Given the description of an element on the screen output the (x, y) to click on. 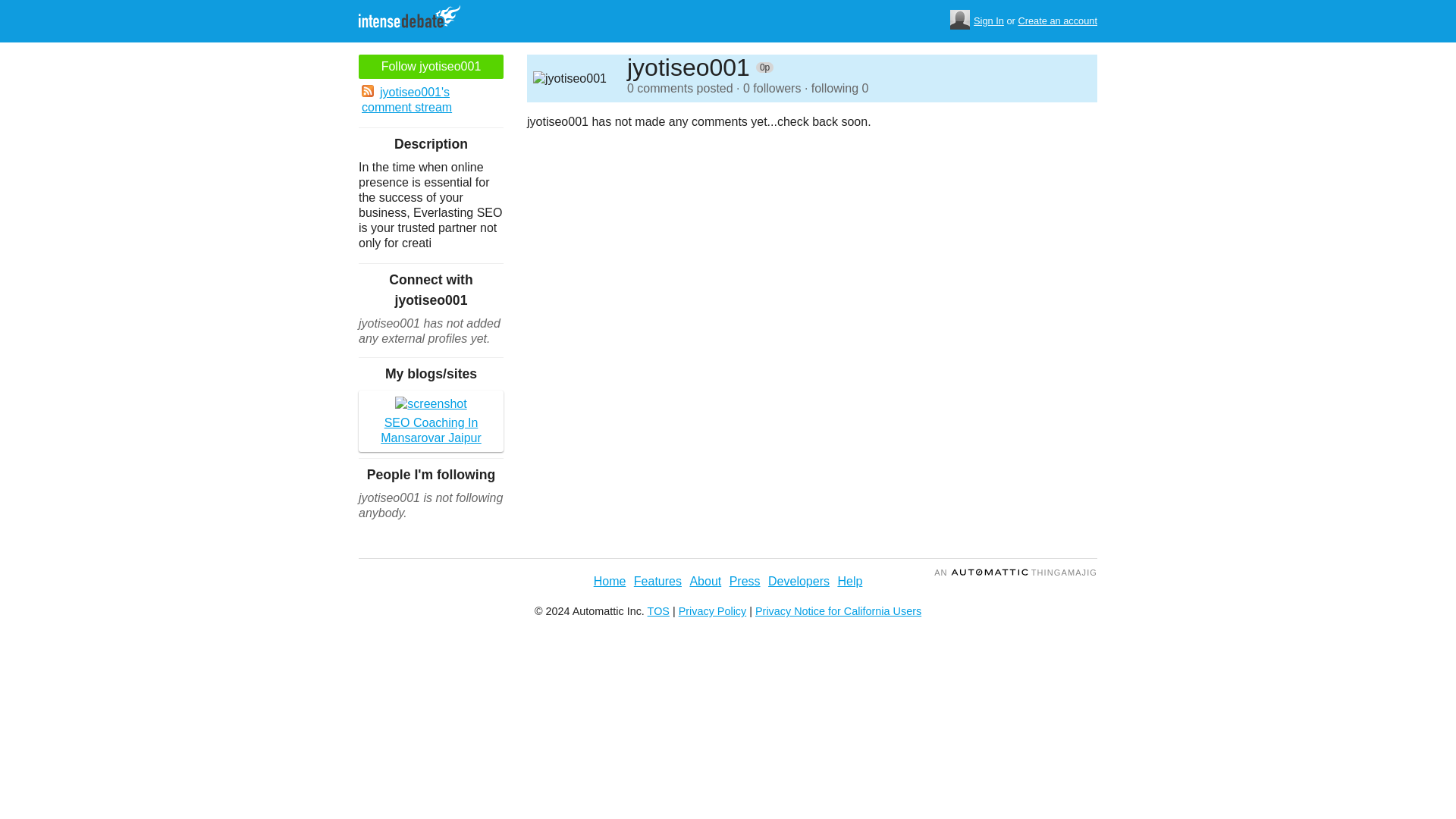
Privacy Notice for California Users (838, 611)
SEO Coaching In Mansarovar Jaipur (430, 420)
IntenseDebate Comment System (414, 18)
Privacy Policy (712, 611)
Press (744, 581)
Help (849, 581)
Sign In (989, 21)
TOS (658, 611)
Follow jyotiseo001 (430, 66)
